Given the description of an element on the screen output the (x, y) to click on. 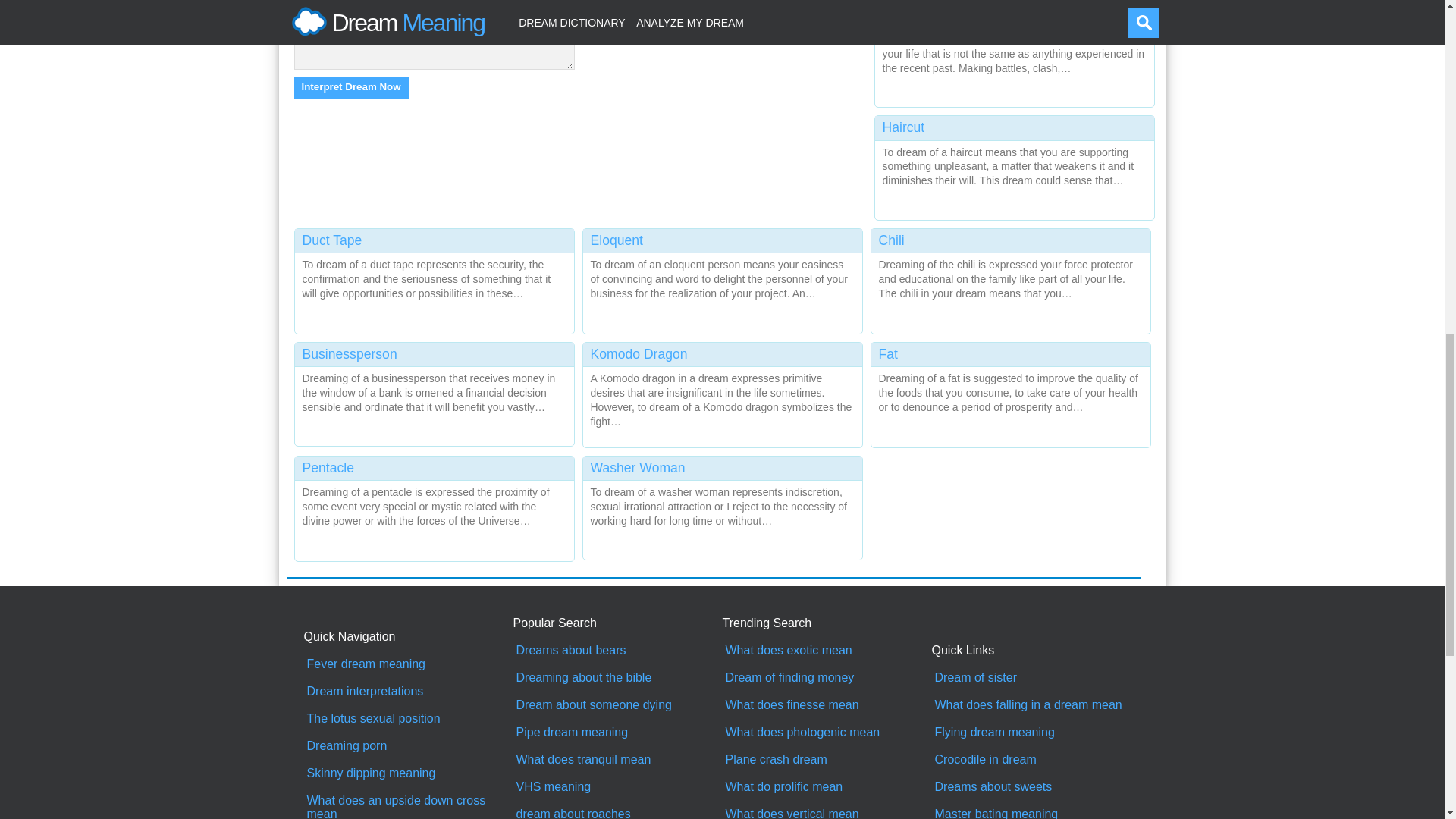
Dreams about bears (617, 650)
Chili Dream Meaning (1010, 277)
Eloquent Dream Meaning (721, 277)
Dreaming porn (407, 745)
Fat Dream Meaning (1010, 391)
Dreaming about the bible (617, 677)
What does an upside down cross mean (407, 806)
200 Number Dream Meaning (1014, 52)
Skinny dipping meaning (407, 773)
Fever dream meaning (407, 663)
